Given the description of an element on the screen output the (x, y) to click on. 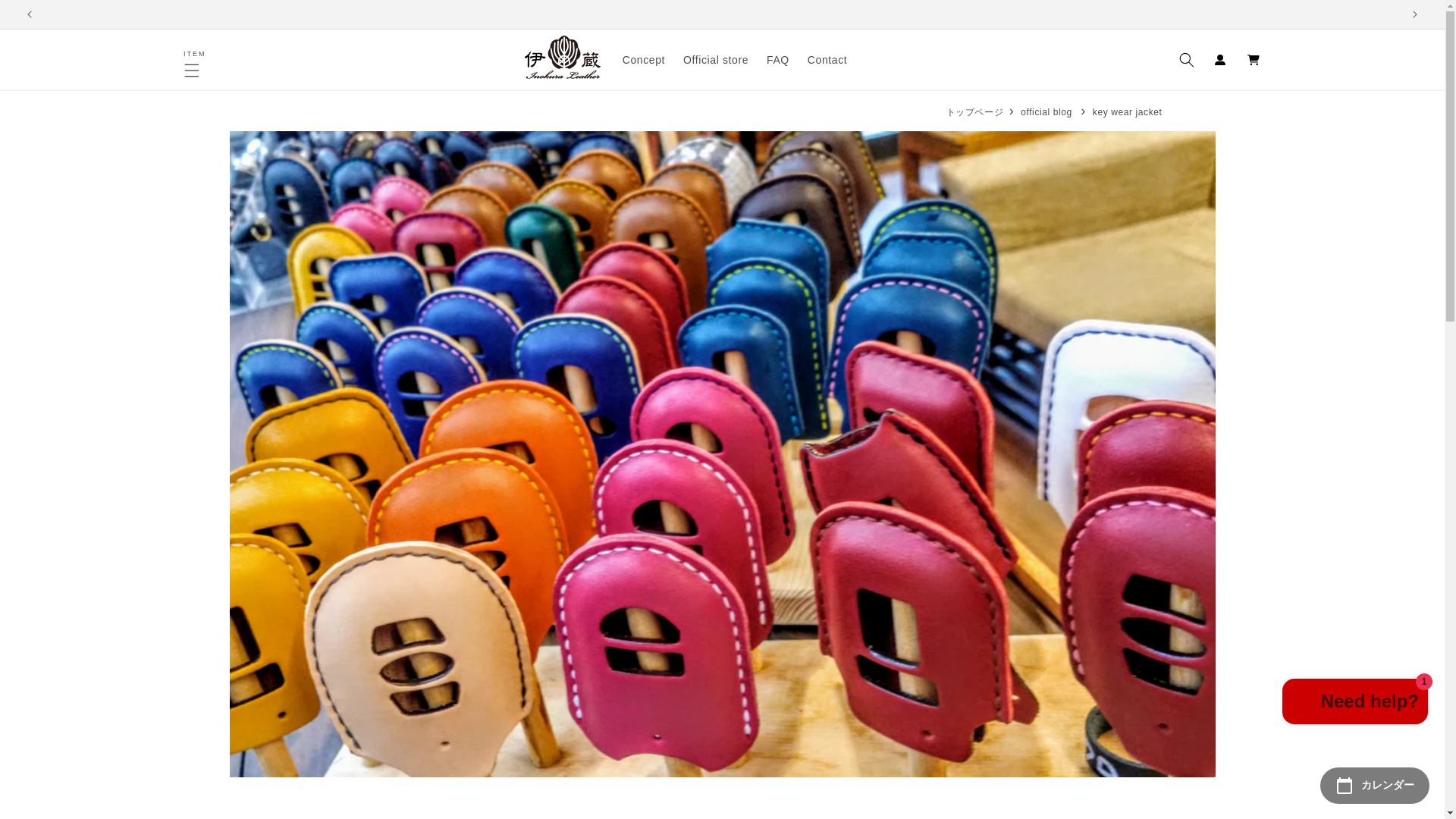
Skip to content (1355, 703)
